Given the description of an element on the screen output the (x, y) to click on. 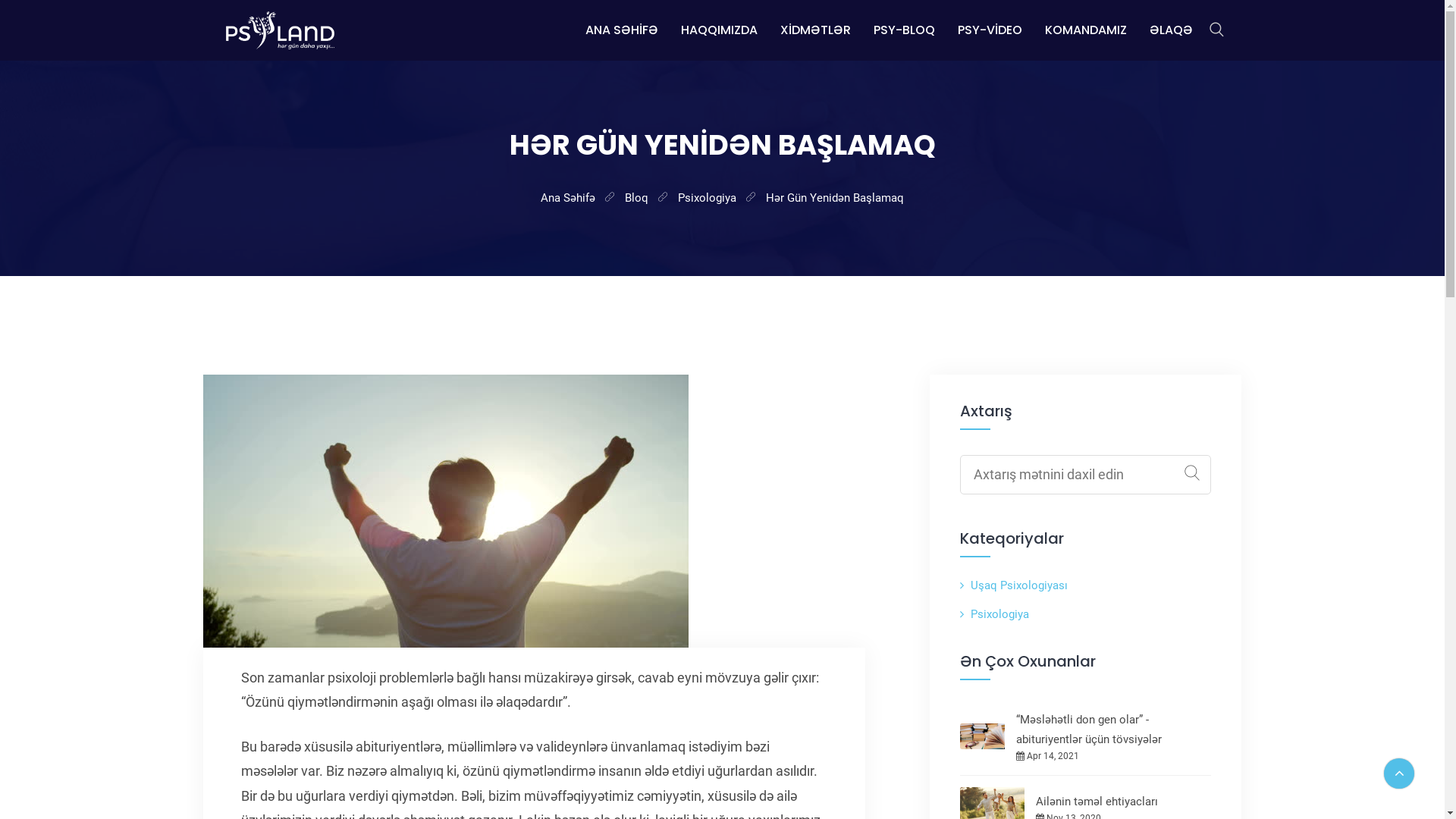
Search Element type: text (1192, 473)
Psixologiya Element type: text (706, 197)
PSY-VIDEO Element type: text (989, 30)
Bloq Element type: text (636, 197)
HAQQIMIZDA Element type: text (718, 30)
PSY-BLOQ Element type: text (904, 30)
Psixologiya Element type: text (999, 614)
KOMANDAMIZ Element type: text (1085, 30)
